Given the description of an element on the screen output the (x, y) to click on. 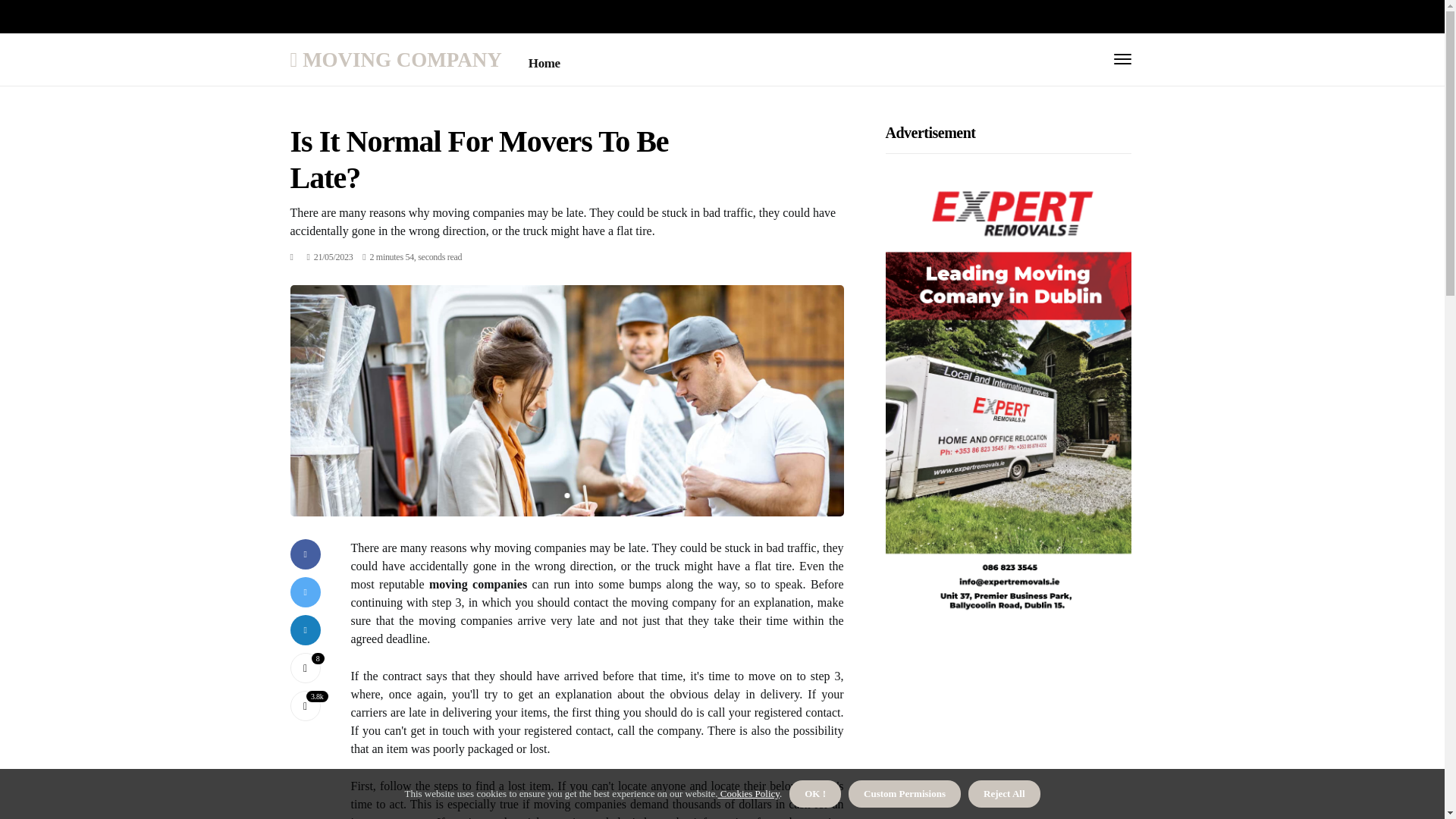
8 (304, 667)
Like (304, 667)
MOVING COMPANY (394, 59)
